Given the description of an element on the screen output the (x, y) to click on. 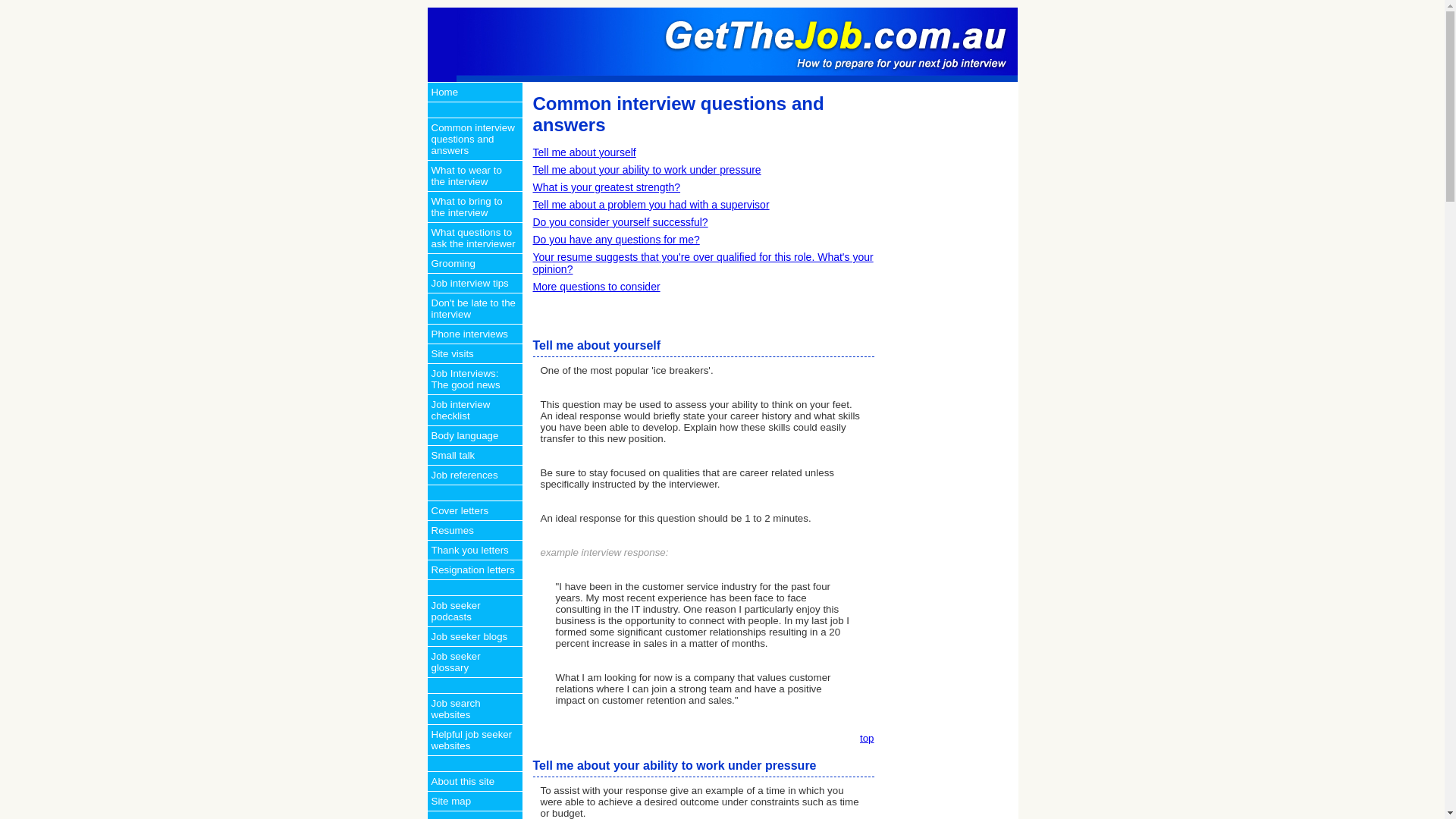
Site visits Element type: text (474, 353)
What to wear to the interview Element type: text (474, 175)
Job interview checklist Element type: text (474, 409)
Resignation letters Element type: text (474, 569)
top Element type: text (866, 737)
Body language Element type: text (474, 435)
Don't be late to the interview Element type: text (474, 307)
GetTheJob.com.au logo Element type: hover (736, 78)
What to bring to the interview Element type: text (474, 206)
Do you have any questions for me? Element type: text (615, 239)
Job seeker podcasts Element type: text (474, 610)
Site map Element type: text (474, 800)
What questions to ask the interviewer Element type: text (474, 237)
Job Interviews: The good news Element type: text (474, 378)
What is your greatest strength? Element type: text (606, 187)
Tell me about yourself Element type: text (583, 152)
Thank you letters Element type: text (474, 549)
Home Element type: text (474, 91)
Tell me about a problem you had with a supervisor Element type: text (650, 204)
Do you consider yourself successful? Element type: text (619, 222)
Grooming Element type: text (474, 263)
Job seeker glossary Element type: text (474, 661)
Job search websites Element type: text (474, 708)
Resumes Element type: text (474, 529)
Job references Element type: text (474, 474)
Tell me about your ability to work under pressure Element type: text (646, 169)
Common interview questions and answers Element type: text (474, 138)
Small talk Element type: text (474, 454)
More questions to consider Element type: text (595, 286)
Phone interviews Element type: text (474, 333)
Helpful job seeker websites Element type: text (474, 739)
Job seeker blogs Element type: text (474, 636)
Job interview tips Element type: text (474, 282)
Cover letters Element type: text (474, 510)
About this site Element type: text (474, 780)
